Given the description of an element on the screen output the (x, y) to click on. 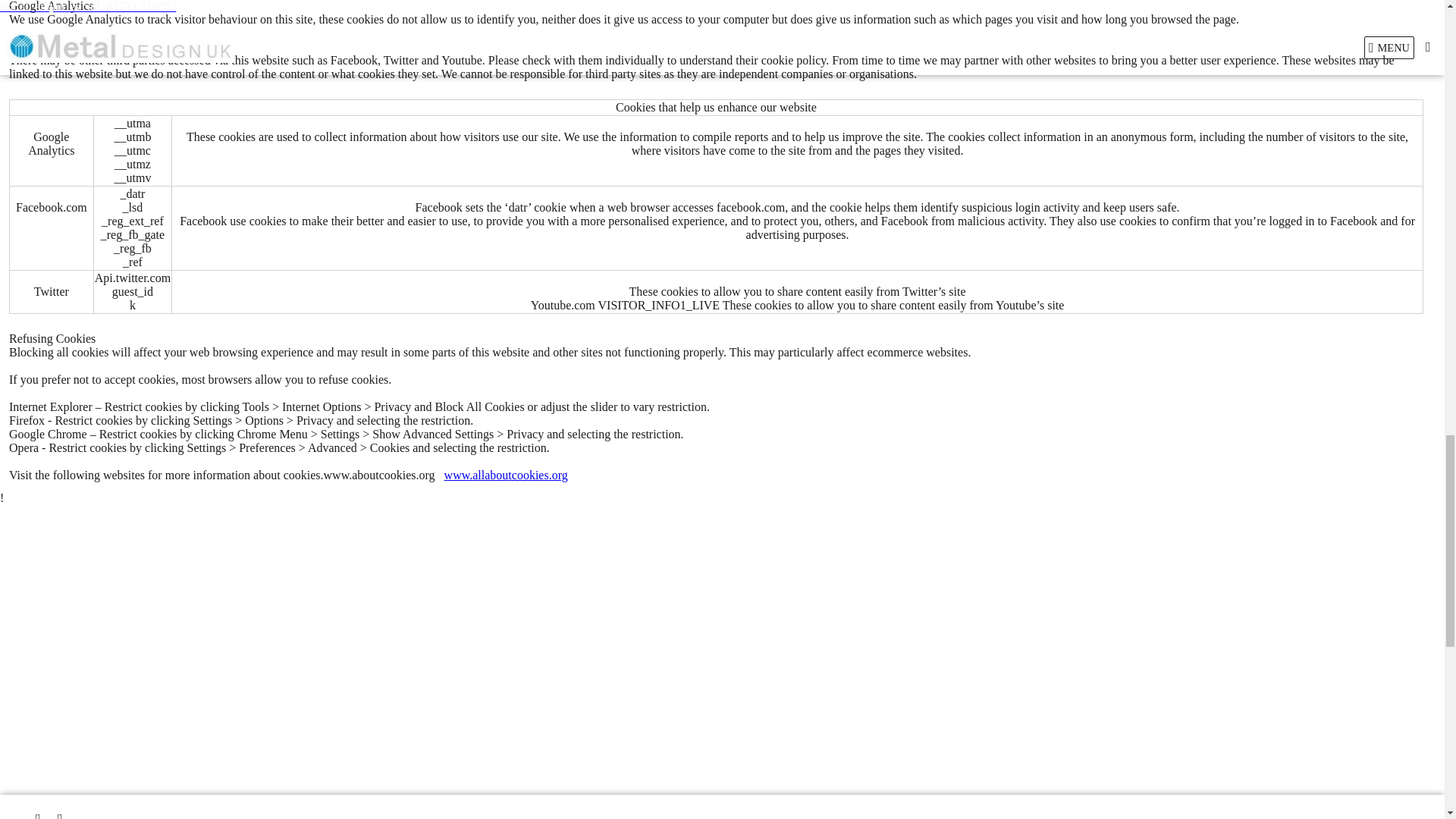
www.allaboutcookies.org (505, 474)
